Given the description of an element on the screen output the (x, y) to click on. 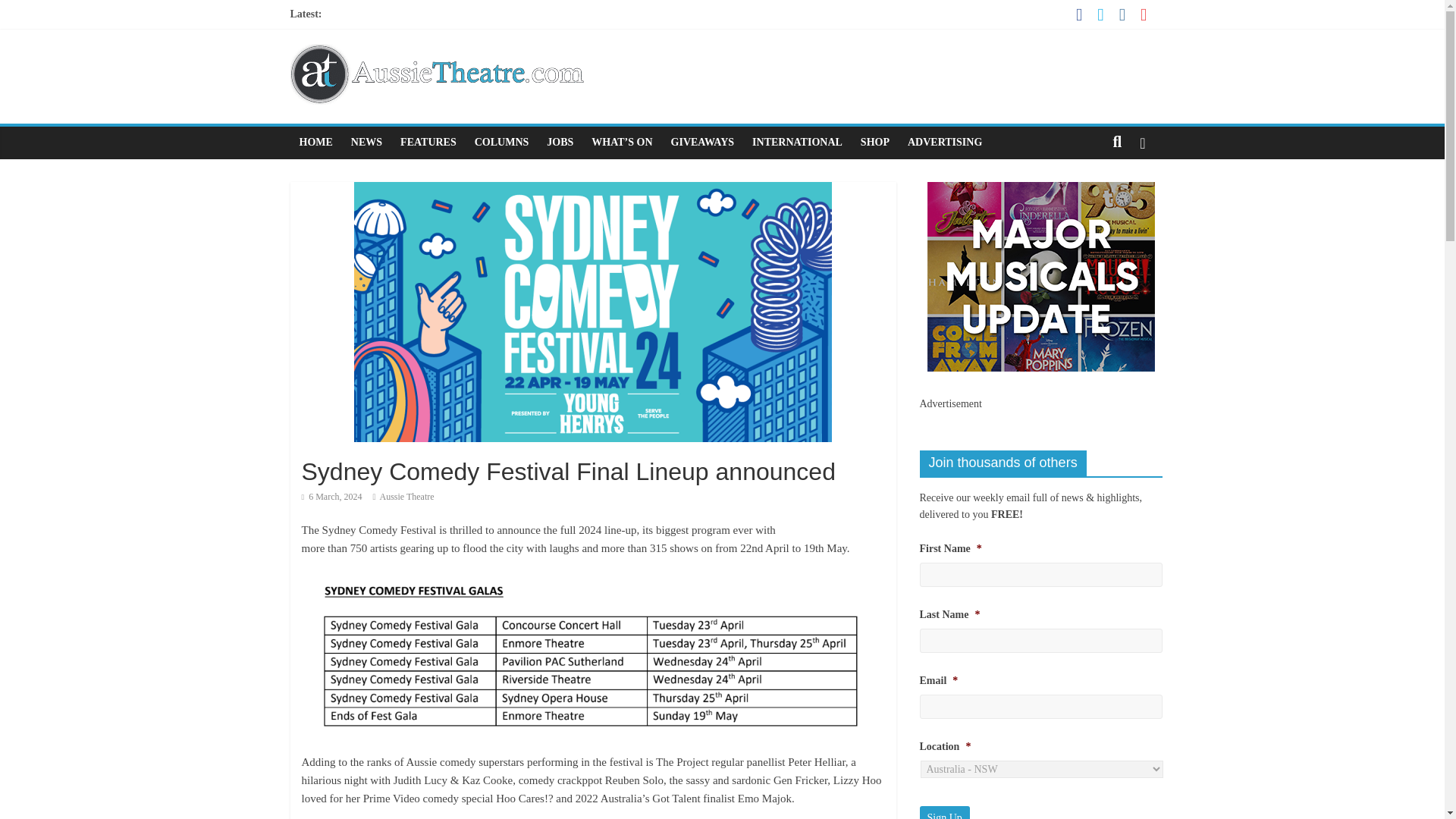
ADVERTISING (944, 142)
Aussie Theatre (406, 496)
NEWS (366, 142)
Aussie Theatre (406, 496)
COLUMNS (501, 142)
Sign Up (943, 812)
INTERNATIONAL (796, 142)
6 March, 2024 (331, 496)
SHOP (874, 142)
GIVEAWAYS (703, 142)
6:02 pm (331, 496)
HOME (314, 142)
JOBS (559, 142)
Sign Up (943, 812)
FEATURES (428, 142)
